Given the description of an element on the screen output the (x, y) to click on. 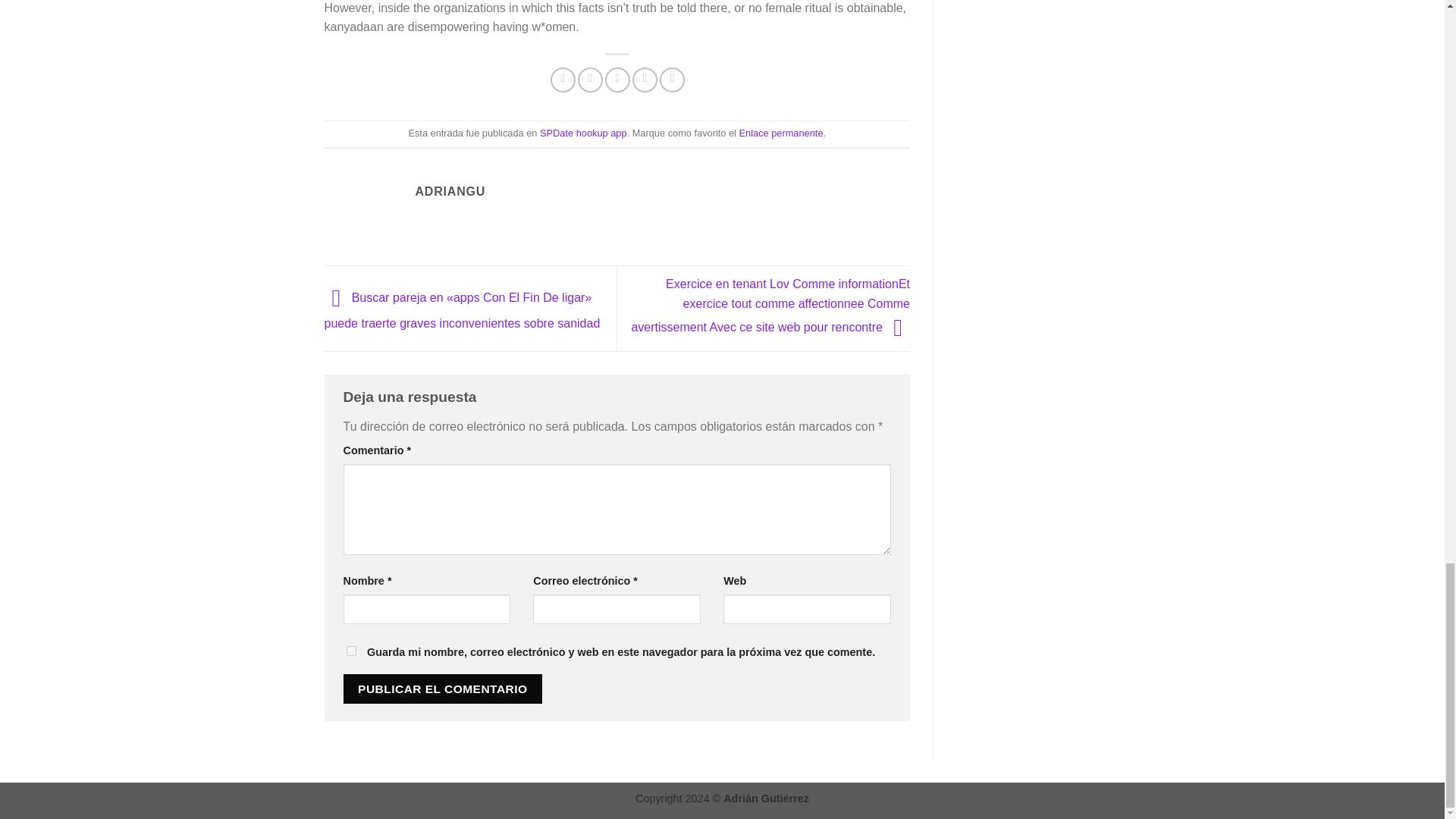
Compartir en LinkedIn (671, 79)
SPDate hookup app (583, 132)
Enlace permanente (781, 132)
Publicar el comentario (441, 688)
Publicar el comentario (441, 688)
yes (350, 651)
Compartir en Facebook (562, 79)
Compartir en Twitter (590, 79)
Pinear en Pinterest (644, 79)
